Given the description of an element on the screen output the (x, y) to click on. 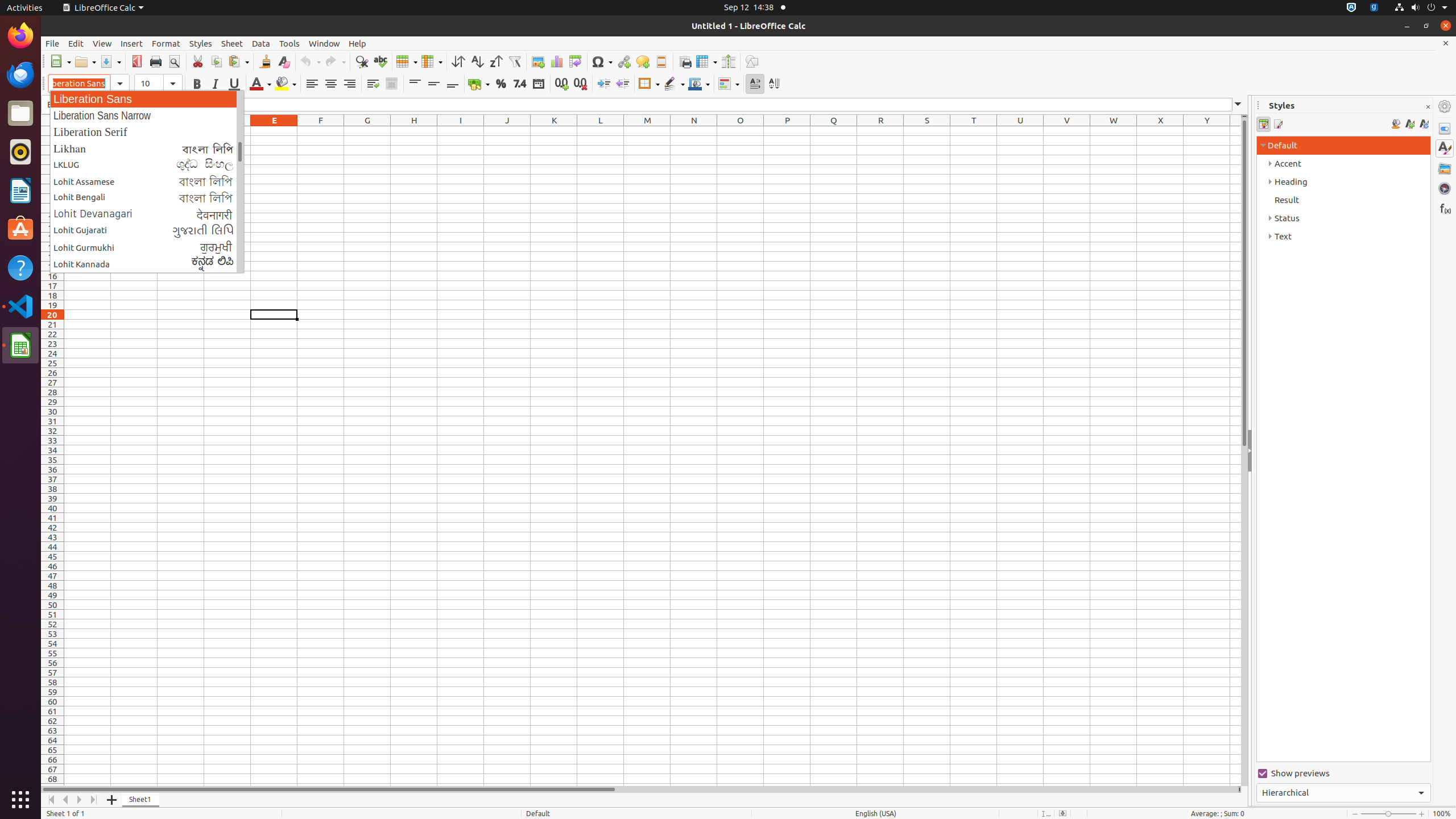
Spelling Element type: push-button (379, 61)
Decrease Element type: push-button (622, 83)
Cell Styles Element type: push-button (1263, 123)
Functions Element type: radio-button (1444, 208)
Files Element type: push-button (20, 113)
